Given the description of an element on the screen output the (x, y) to click on. 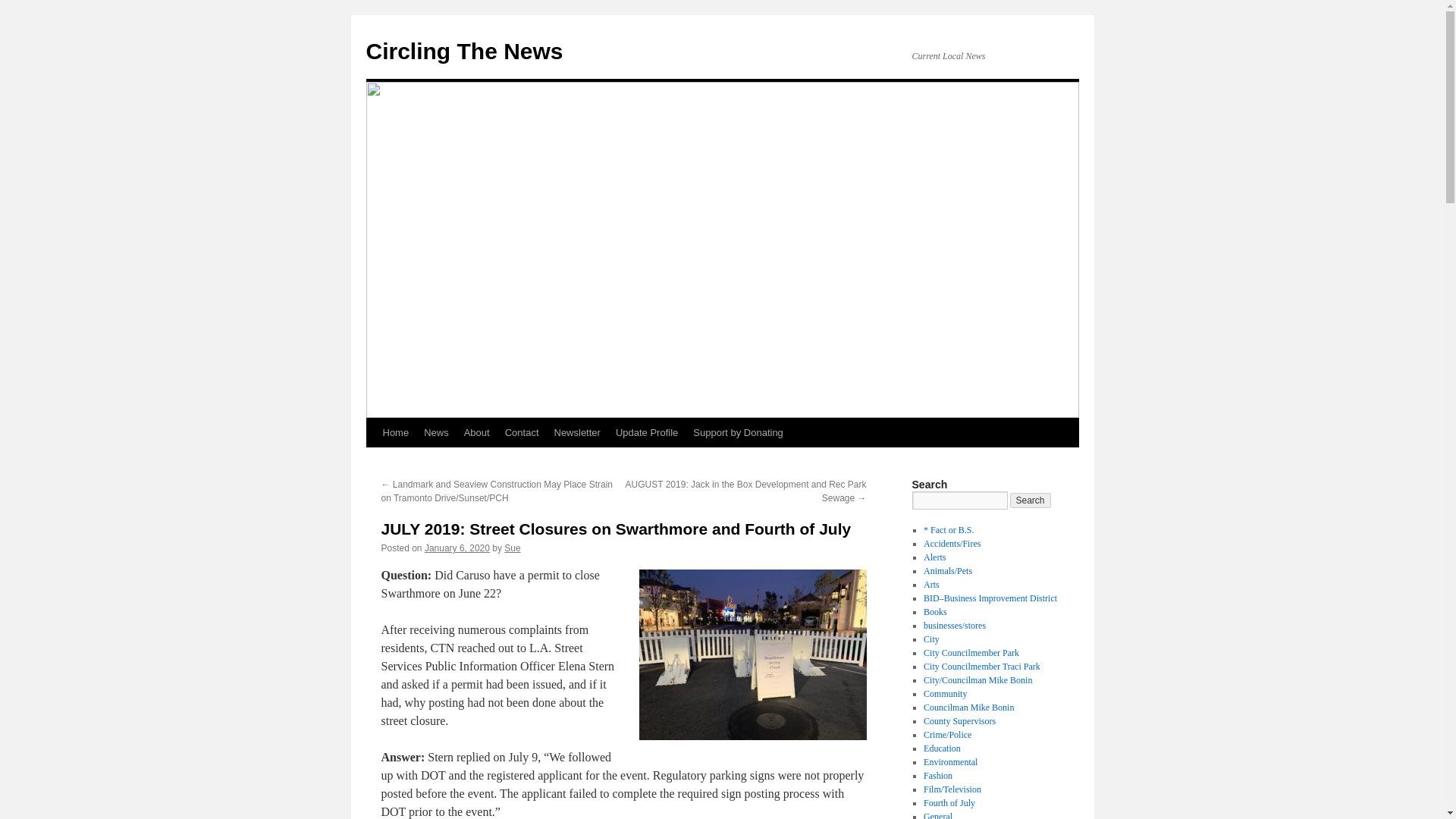
Books (935, 611)
News (436, 432)
8:28 pm (457, 547)
Newsletter (576, 432)
Community (944, 693)
Sue (511, 547)
City Councilmember Traci Park (982, 665)
Home (395, 432)
About (477, 432)
Contact (522, 432)
